Given the description of an element on the screen output the (x, y) to click on. 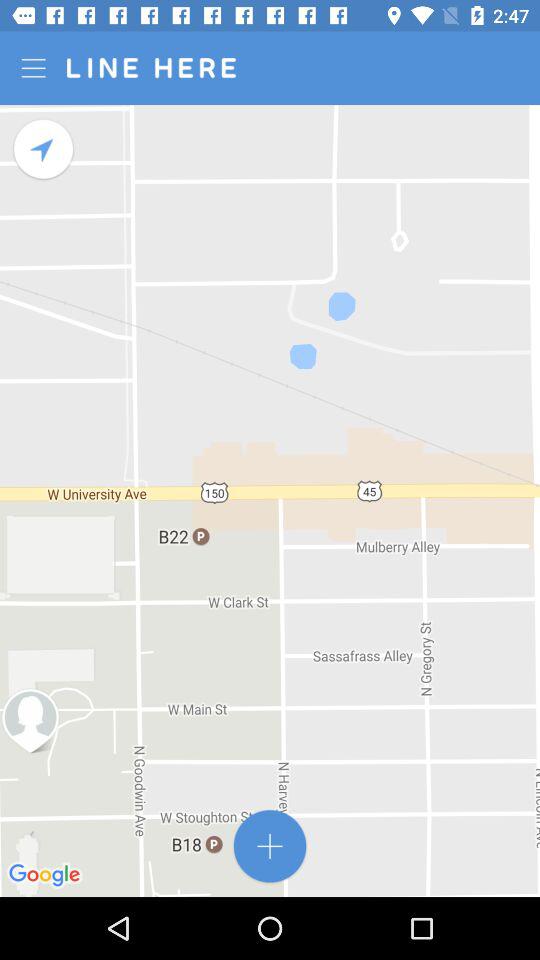
turn off the icon at the center (270, 500)
